Given the description of an element on the screen output the (x, y) to click on. 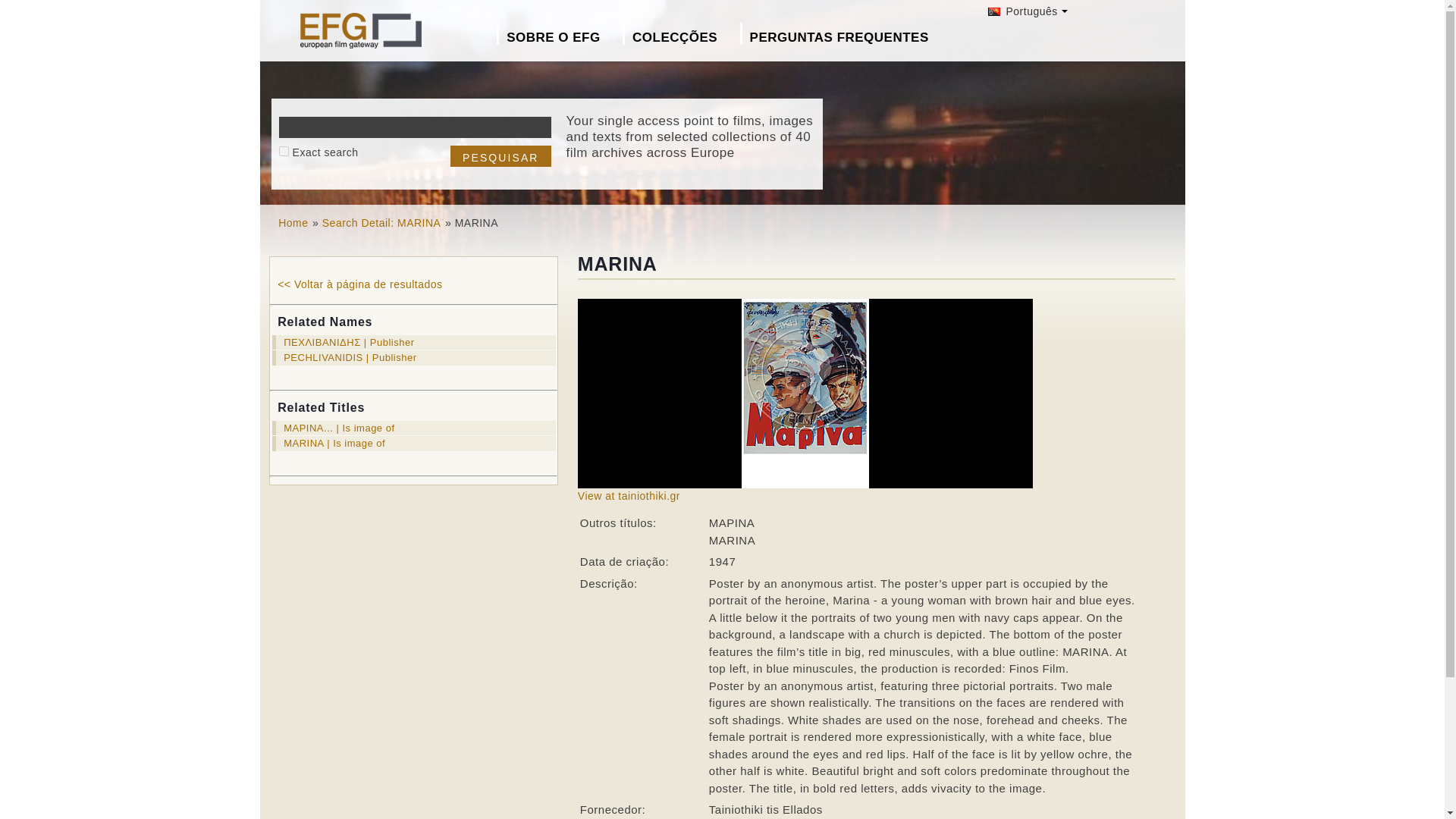
Home (292, 223)
PERGUNTAS FREQUENTES (843, 33)
SOBRE O EFG (557, 33)
Pesquisar (500, 156)
exact (283, 151)
Search Detail: MARINA (381, 223)
View at tainiothiki.gr (628, 495)
Pesquisar (500, 156)
